Given the description of an element on the screen output the (x, y) to click on. 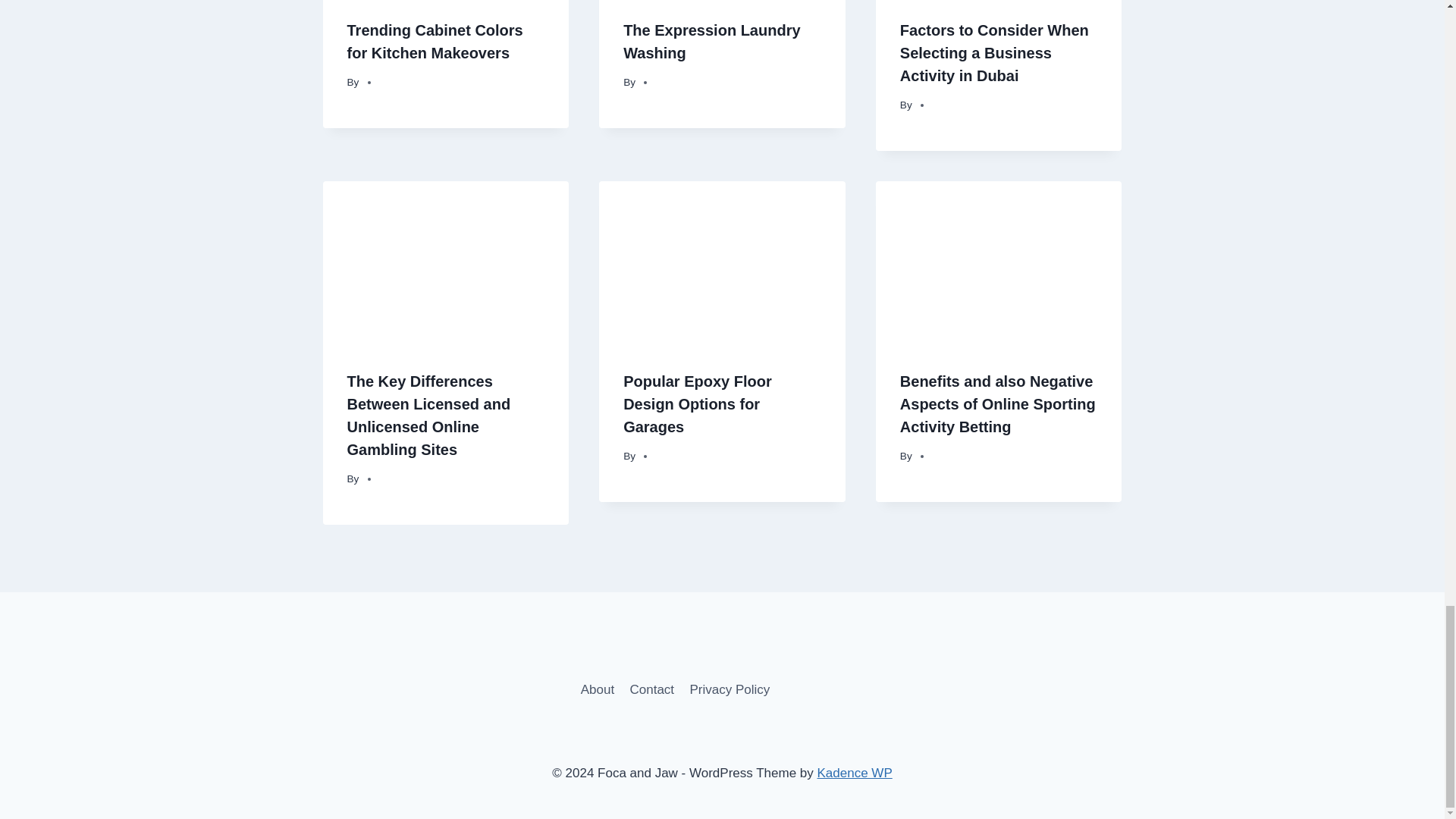
Trending Cabinet Colors for Kitchen Makeovers (434, 41)
The Expression Laundry Washing (711, 41)
